Given the description of an element on the screen output the (x, y) to click on. 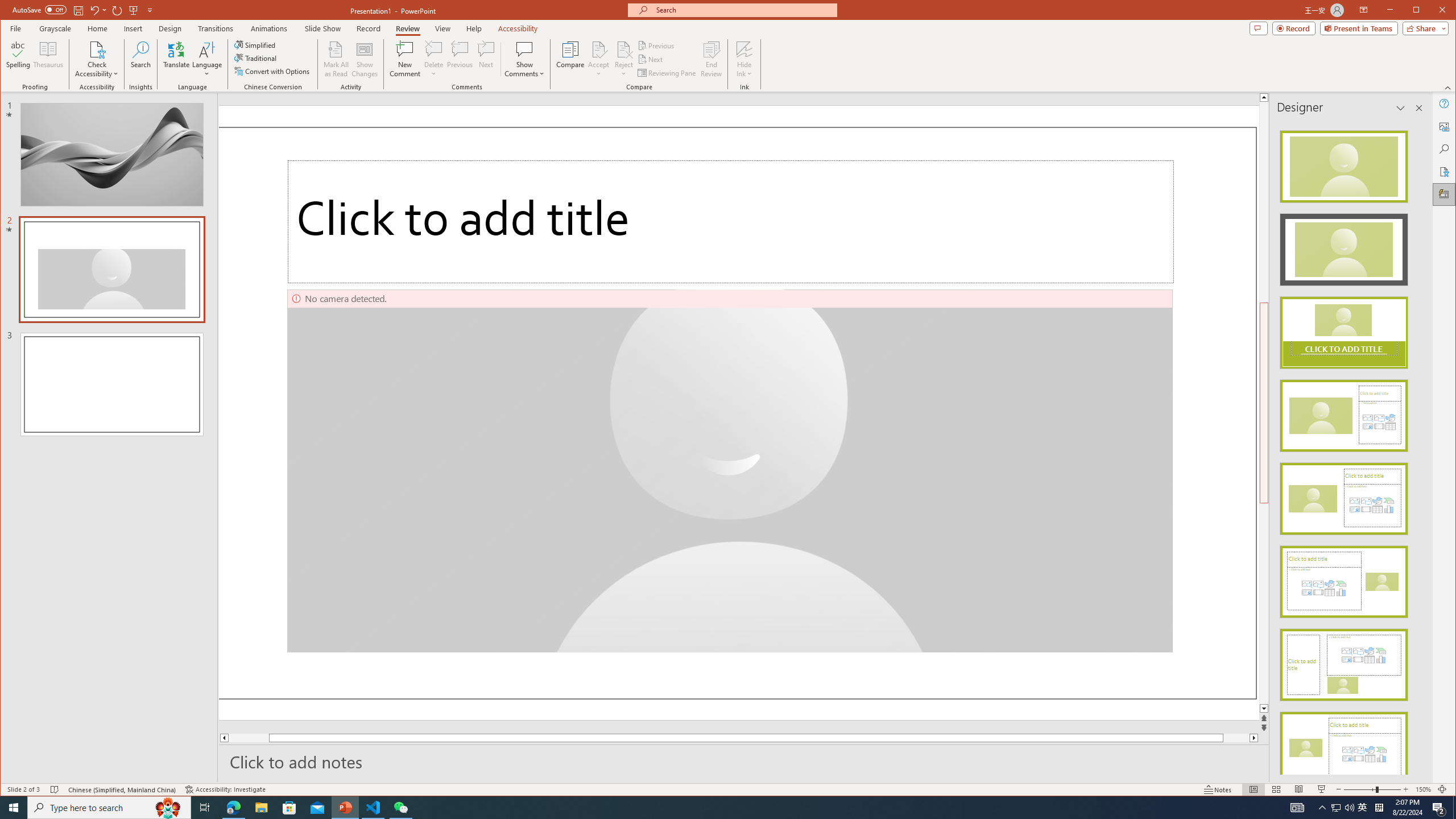
Mark All as Read (335, 59)
Zoom 150% (1422, 789)
Reject Change (623, 48)
